Given the description of an element on the screen output the (x, y) to click on. 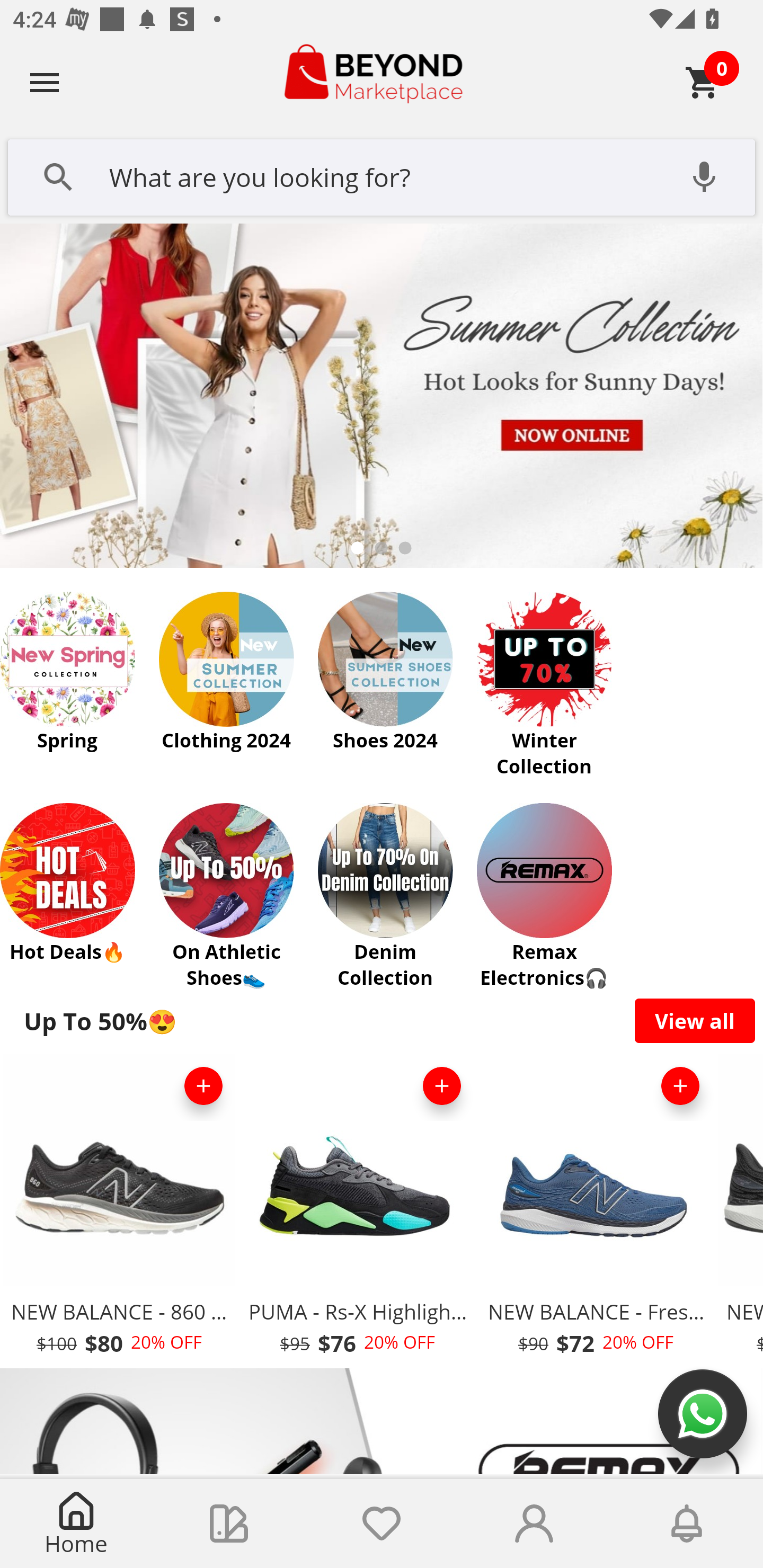
Navigate up (44, 82)
What are you looking for? (381, 175)
View all (694, 1020)
NEW BALANCE - 860 Running Shoes $100 $80 20% OFF (119, 1209)
Collections (228, 1523)
Wishlist (381, 1523)
Account (533, 1523)
Notifications (686, 1523)
